Given the description of an element on the screen output the (x, y) to click on. 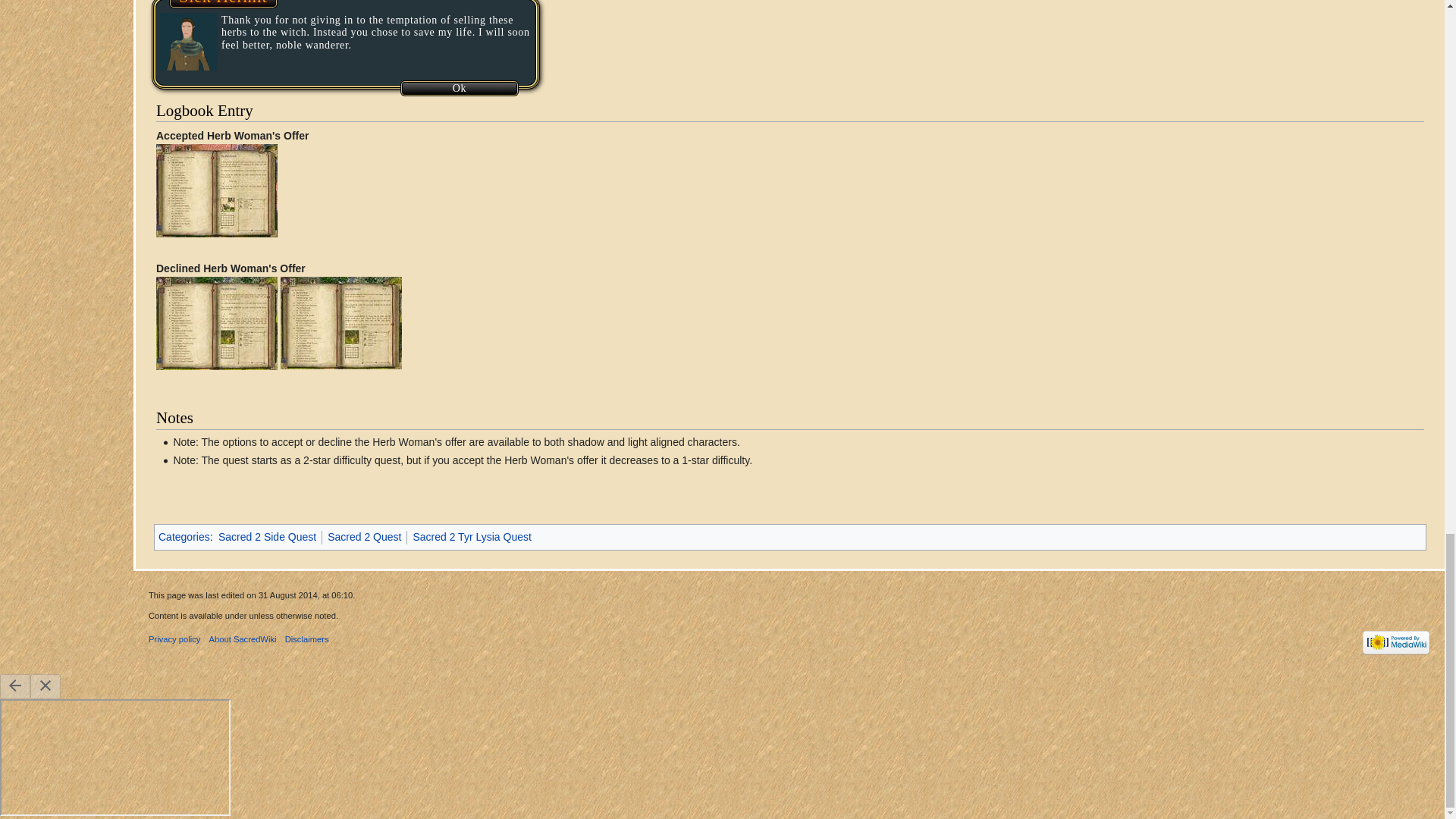
Sacred 2:Sick Hermit (223, 2)
